Given the description of an element on the screen output the (x, y) to click on. 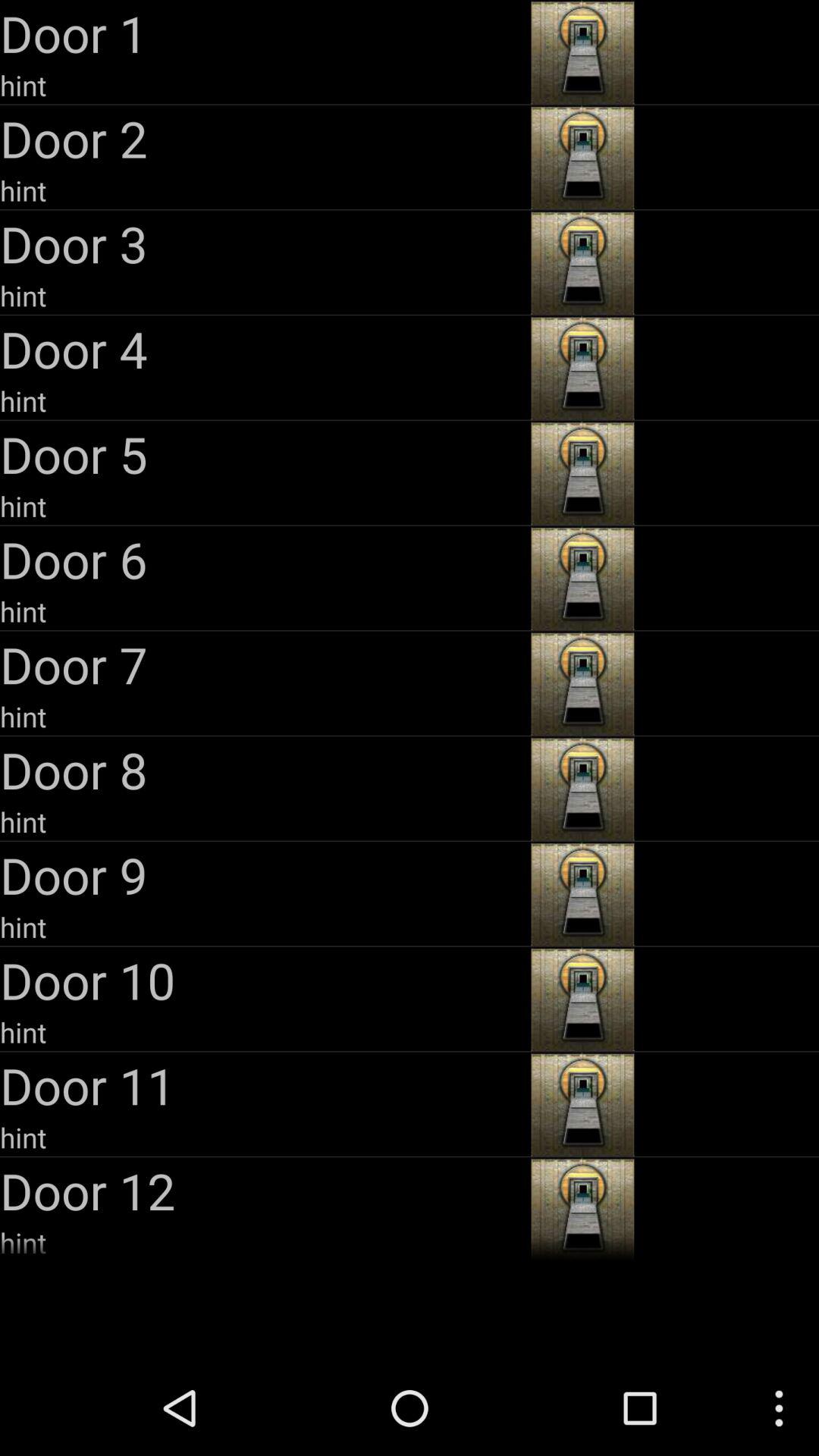
select icon above hint app (263, 769)
